Given the description of an element on the screen output the (x, y) to click on. 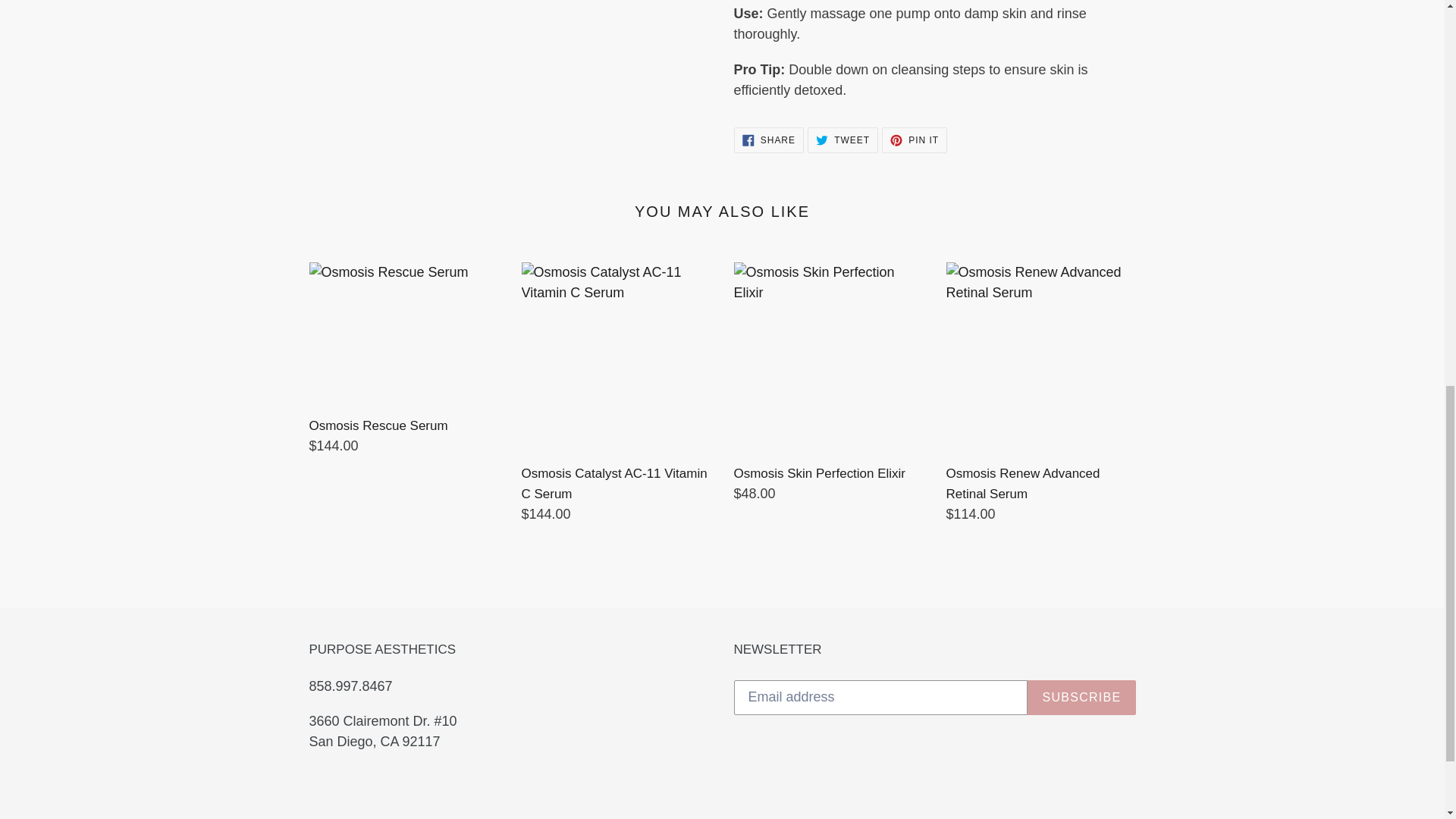
Osmosis Rescue Serum (842, 140)
SUBSCRIBE (914, 140)
